Given the description of an element on the screen output the (x, y) to click on. 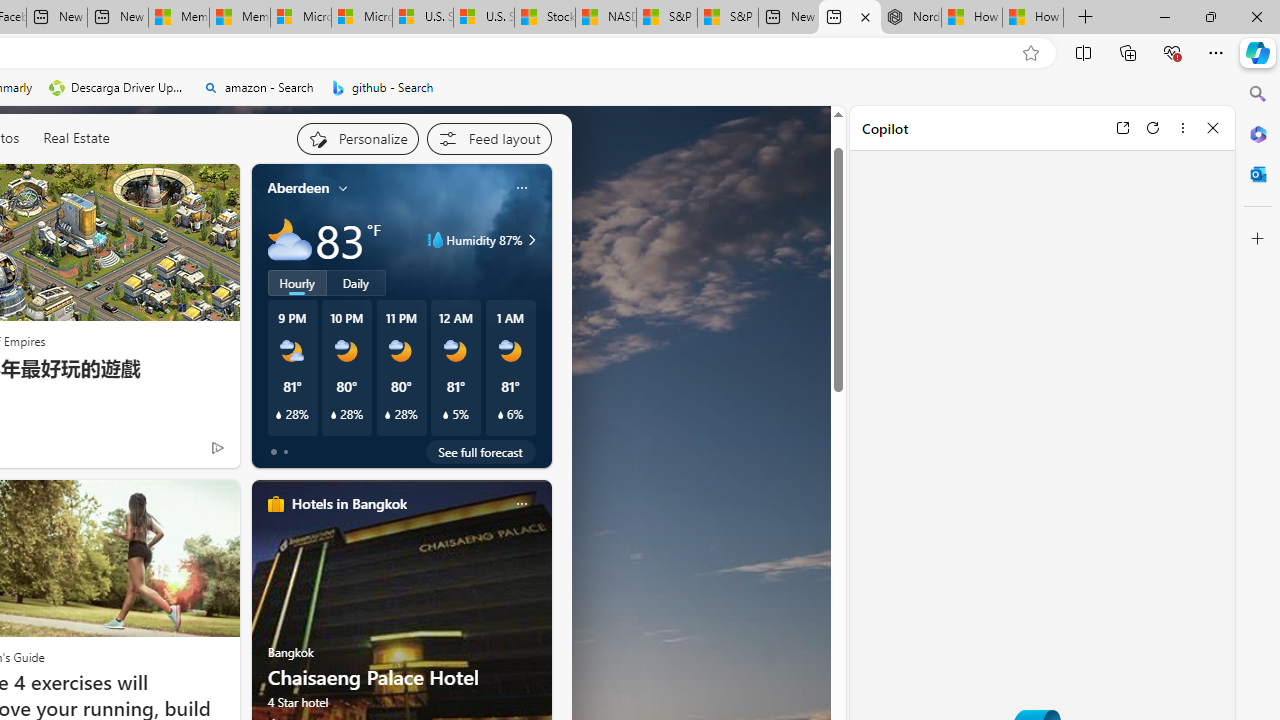
Settings and more (Alt+F) (1215, 52)
My location (343, 187)
Hotels in Bangkok (348, 503)
Aberdeen (298, 188)
Descarga Driver Updater (118, 88)
Collections (1128, 52)
Copilot (Ctrl+Shift+.) (1258, 52)
Personalize your feed" (356, 138)
Open link in new tab (1122, 127)
tab-0 (273, 451)
